Given the description of an element on the screen output the (x, y) to click on. 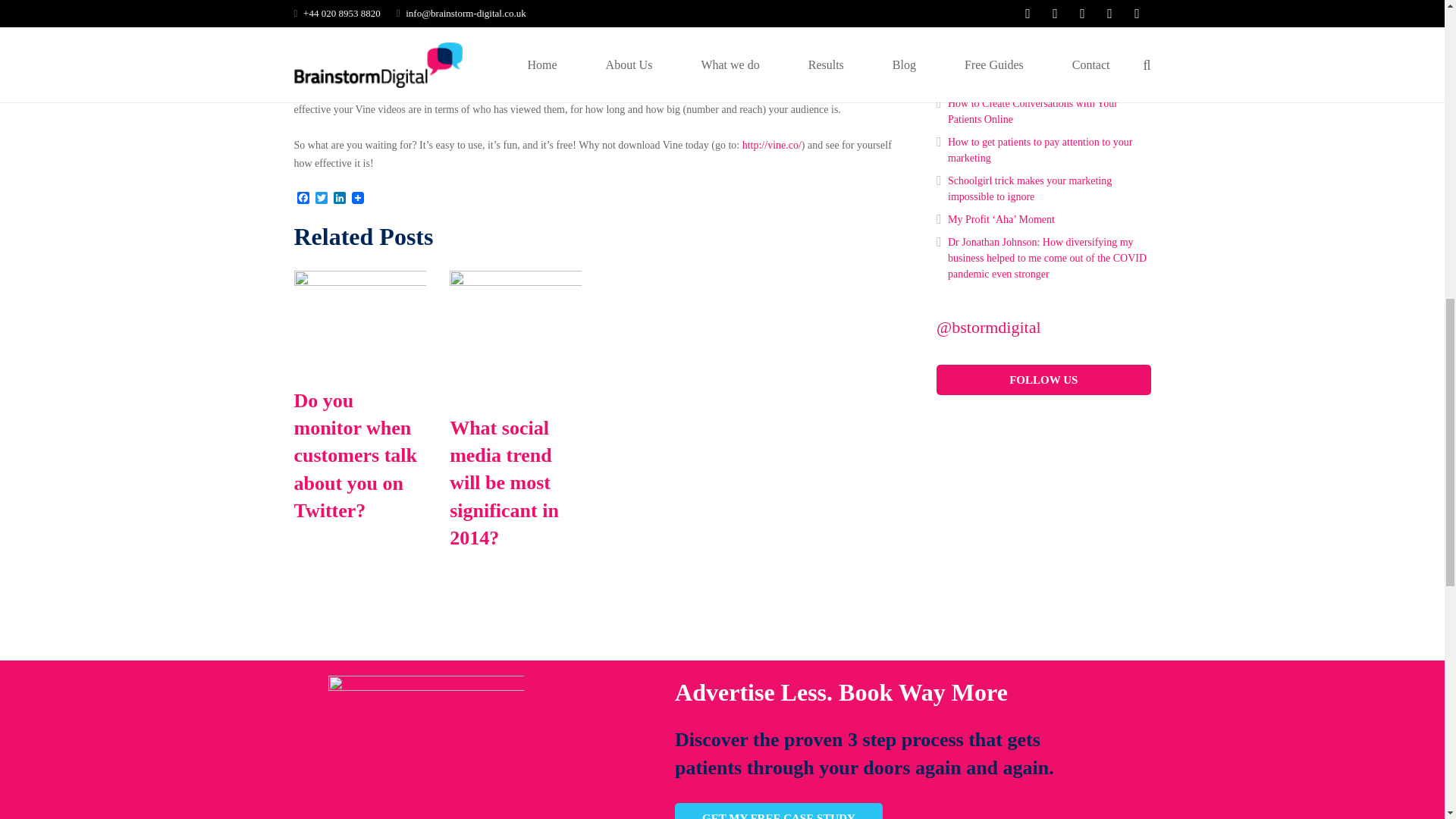
Twitter (321, 198)
Do you monitor when customers talk about you on Twitter? (355, 455)
LinkedIn (339, 198)
Back to top (1413, 26)
Facebook (303, 198)
Do you monitor when customers talk about you on Twitter? (360, 282)
What social media trend will be most significant in 2014? (514, 282)
